Given the description of an element on the screen output the (x, y) to click on. 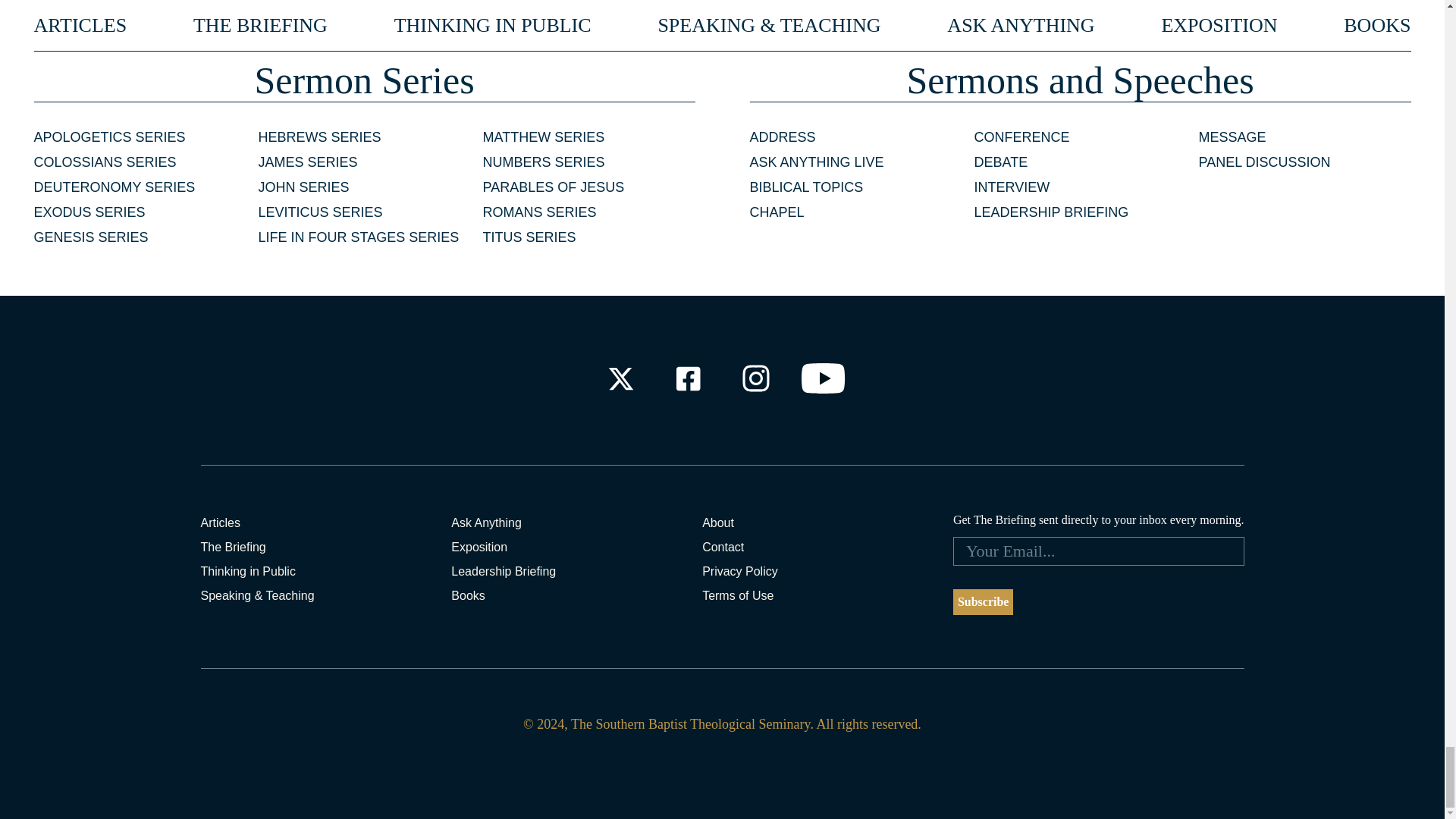
Check out our Facebook Profile (687, 378)
Check out our Youtube Channel (822, 378)
Subscribe (983, 601)
Check out our X Profile (620, 378)
Check out our Instagram Profile (755, 378)
